Given the description of an element on the screen output the (x, y) to click on. 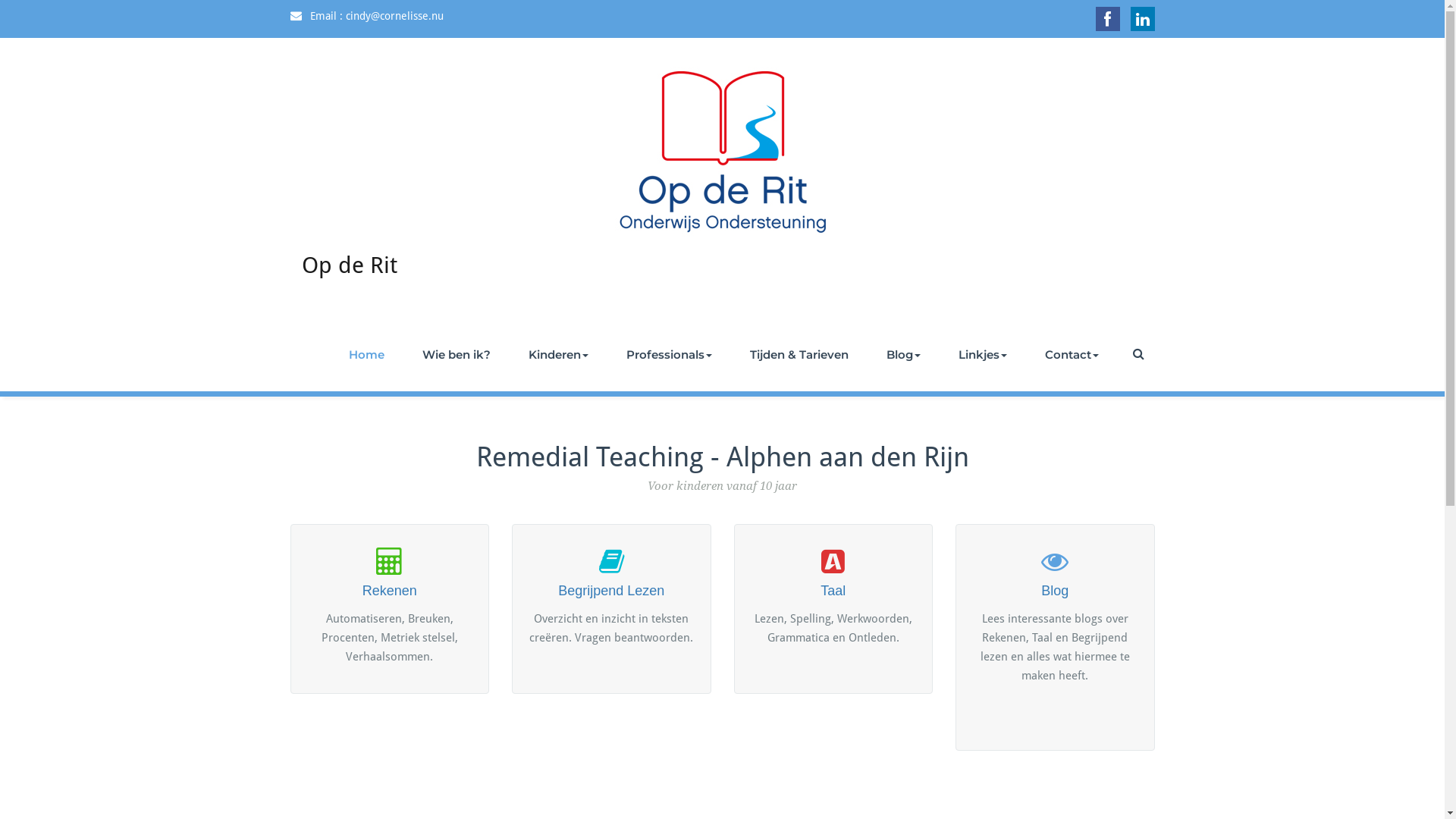
Blog Element type: text (903, 354)
Contact Element type: text (1071, 354)
Tijden & Tarieven Element type: text (799, 354)
Op de Rit Element type: text (349, 282)
Rekenen Element type: text (388, 573)
Taal Element type: text (833, 573)
Home Element type: text (365, 354)
Kinderen Element type: text (558, 354)
Search Element type: hover (1139, 353)
Begrijpend Lezen Element type: text (611, 573)
Wie ben ik? Element type: text (456, 354)
Professionals Element type: text (668, 354)
Blog Element type: text (1054, 573)
Linkjes Element type: text (981, 354)
